Given the description of an element on the screen output the (x, y) to click on. 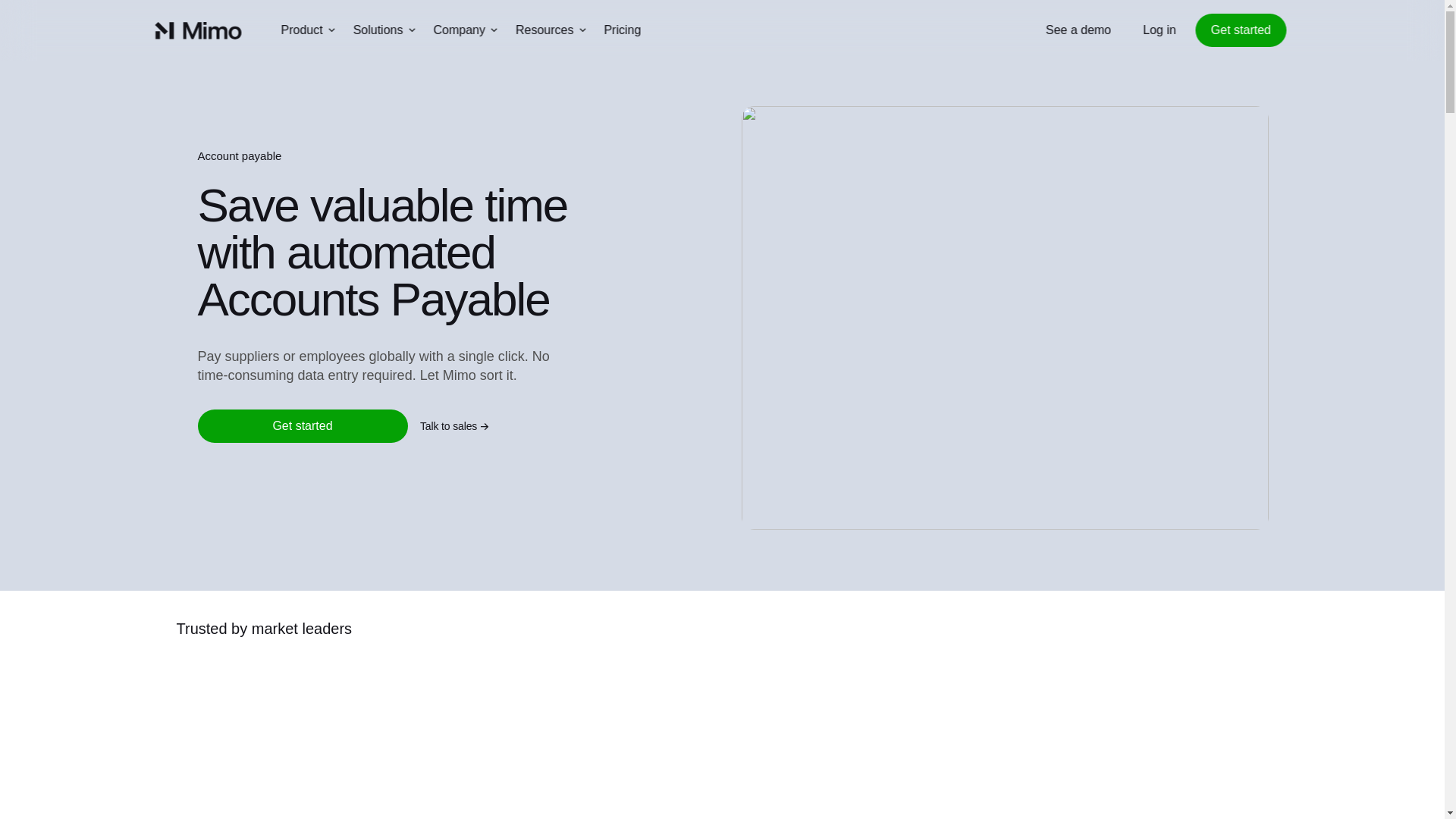
Talk to sales (541, 426)
Get started (301, 426)
